Given the description of an element on the screen output the (x, y) to click on. 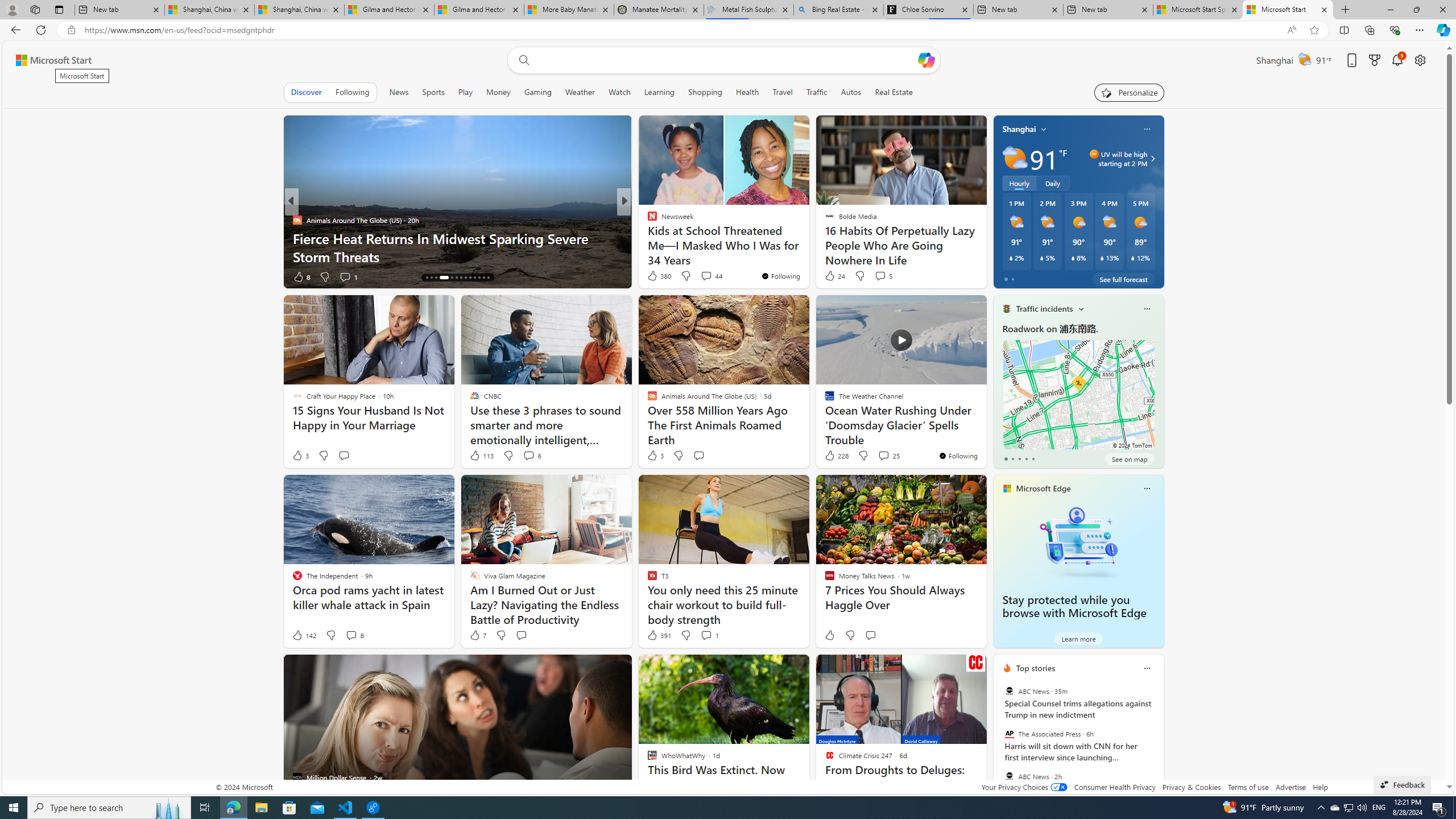
Traffic incidents (1044, 308)
AutomationID: tab-14 (426, 277)
AutomationID: tab-16 (435, 277)
Shopping (705, 92)
3 Like (655, 455)
View comments 44 Comment (705, 275)
AutomationID: tab-19 (456, 277)
Kamala Harris Campaign Shifts Attention To Inflation (807, 256)
Daily (1052, 183)
View comments 8 Comment (354, 634)
